Given the description of an element on the screen output the (x, y) to click on. 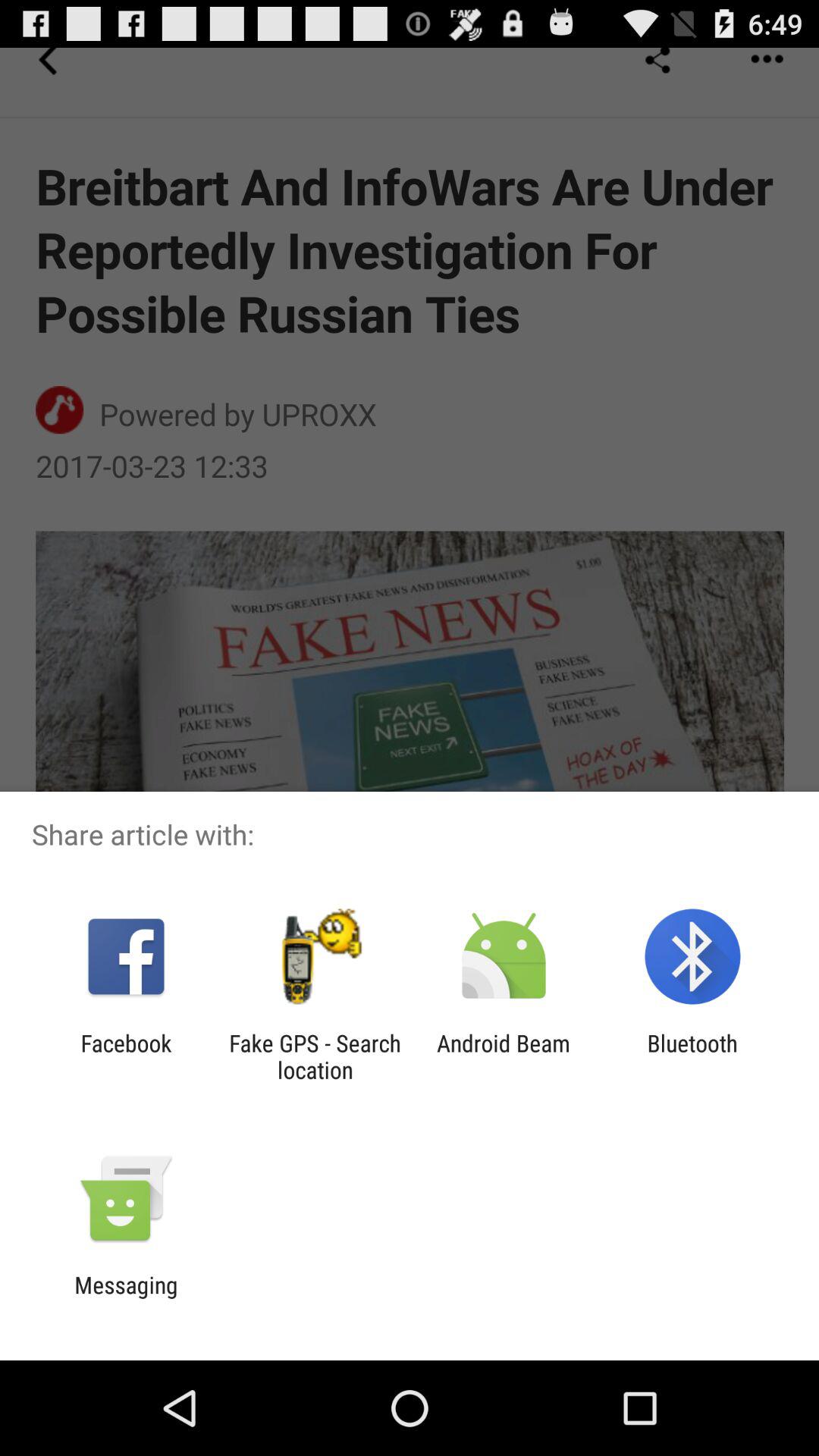
turn off the item next to the facebook app (314, 1056)
